Given the description of an element on the screen output the (x, y) to click on. 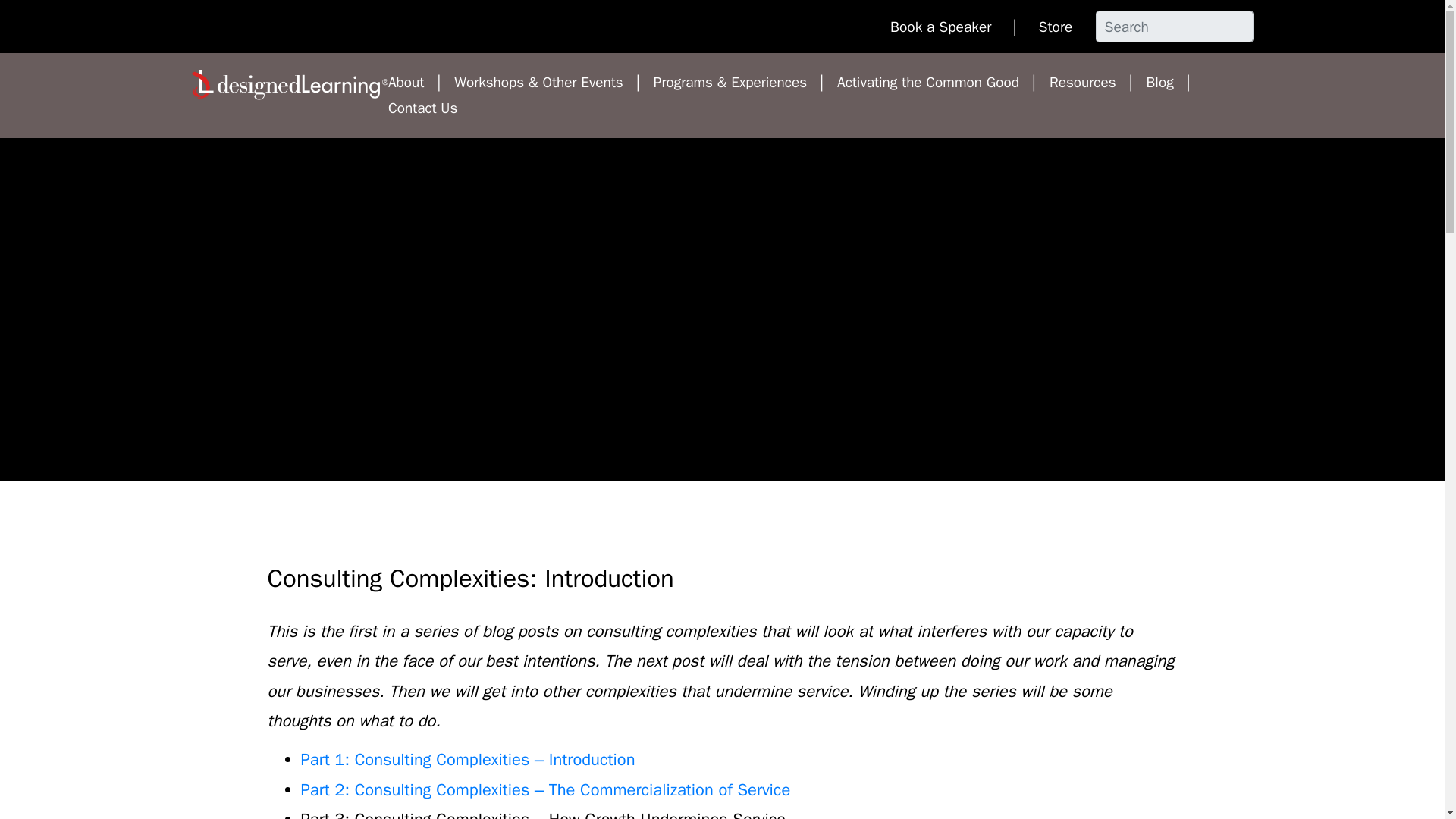
About (408, 82)
Resources (1084, 82)
Activating the Common Good (930, 82)
Contact Us (422, 108)
Store (1056, 26)
Book a Speaker (942, 26)
Blog (1162, 82)
